Given the description of an element on the screen output the (x, y) to click on. 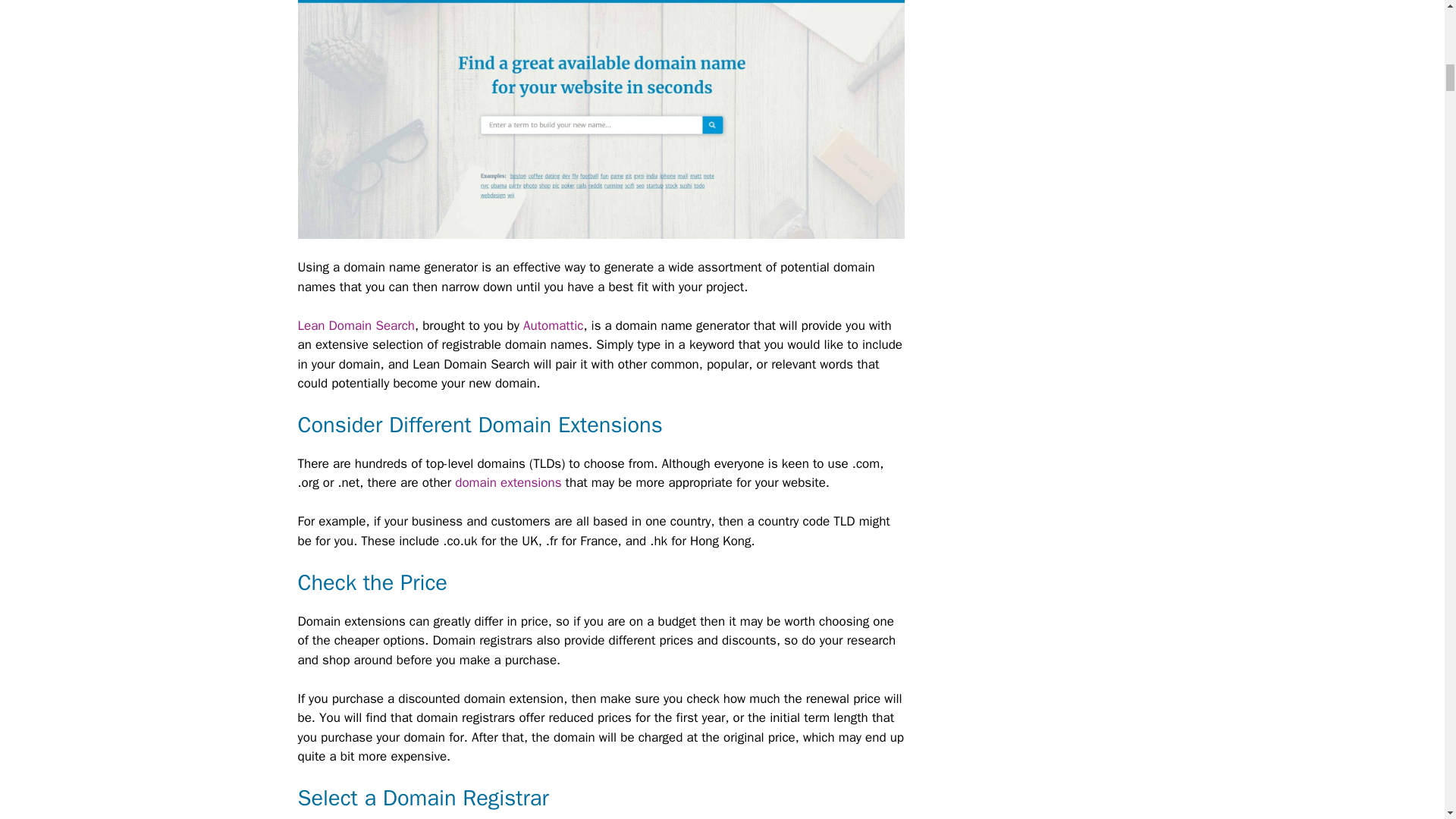
Lean Domain Search (355, 325)
domain extensions (507, 482)
Automattic (552, 325)
